Given the description of an element on the screen output the (x, y) to click on. 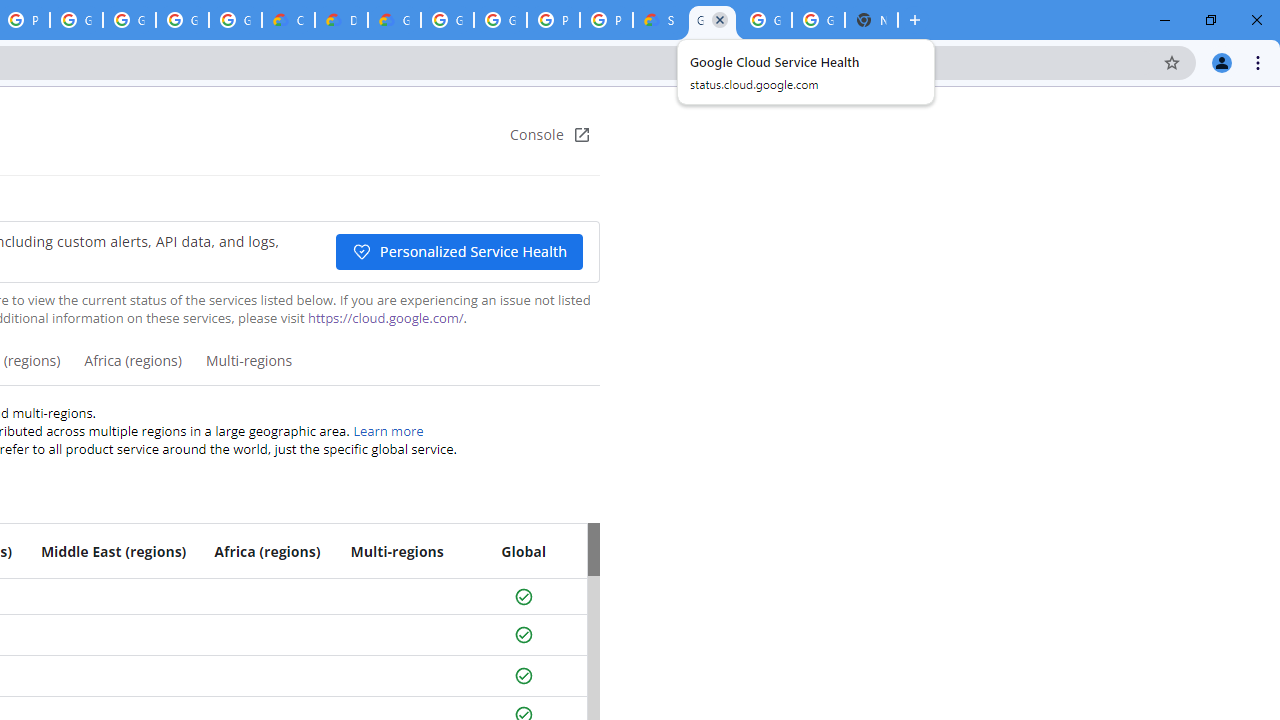
Available status (523, 676)
Africa (regions) (132, 368)
New Tab (871, 20)
Support Hub | Google Cloud (659, 20)
https://cloud.google.com/ (385, 318)
Gemini for Business and Developers | Google Cloud (394, 20)
Google Cloud Platform (447, 20)
Google Workspace - Specific Terms (182, 20)
Multi-regions (248, 368)
Customer Care | Google Cloud (288, 20)
